Given the description of an element on the screen output the (x, y) to click on. 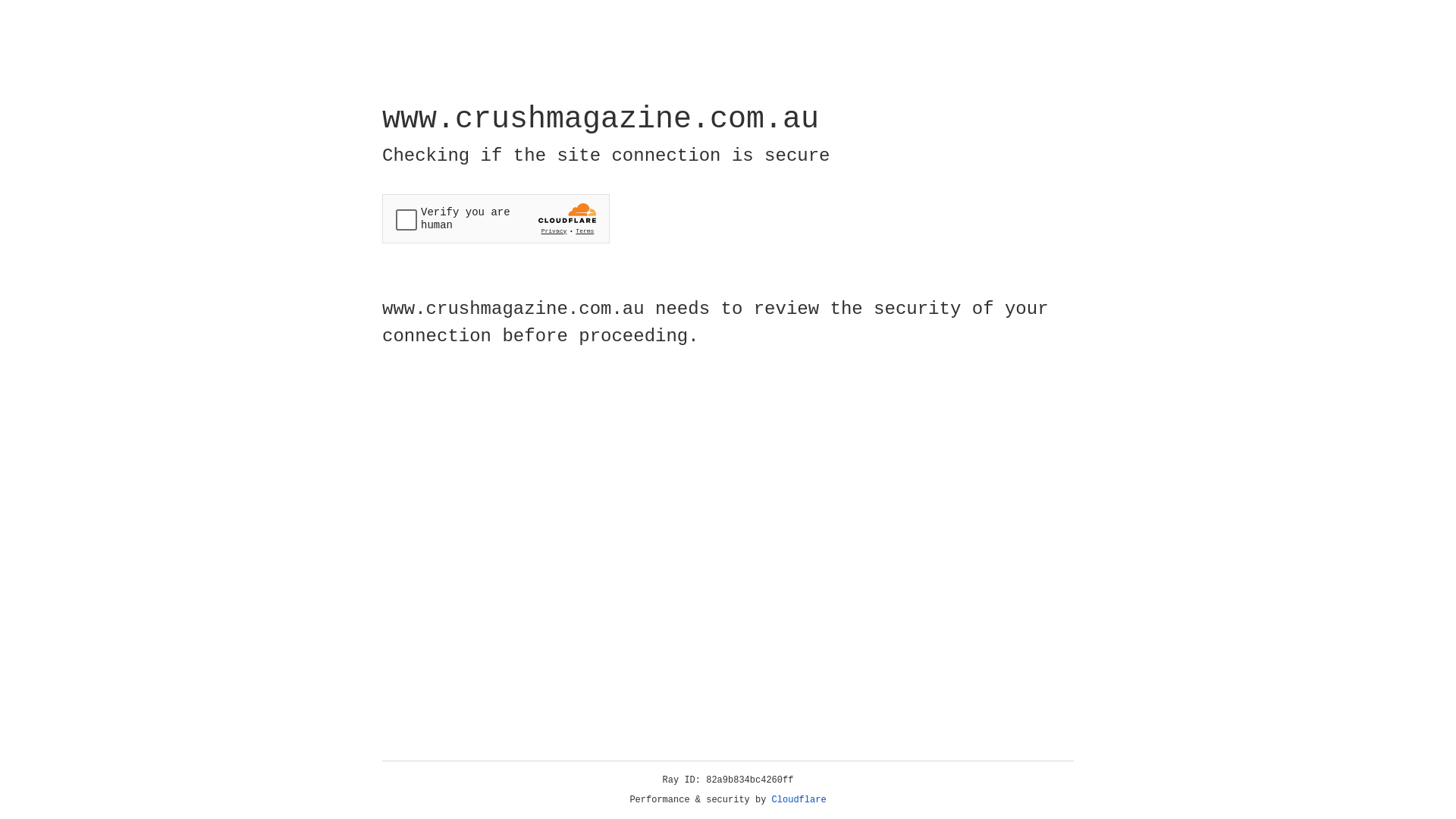
Cloudflare Element type: text (798, 799)
Widget containing a Cloudflare security challenge Element type: hover (495, 218)
